Given the description of an element on the screen output the (x, y) to click on. 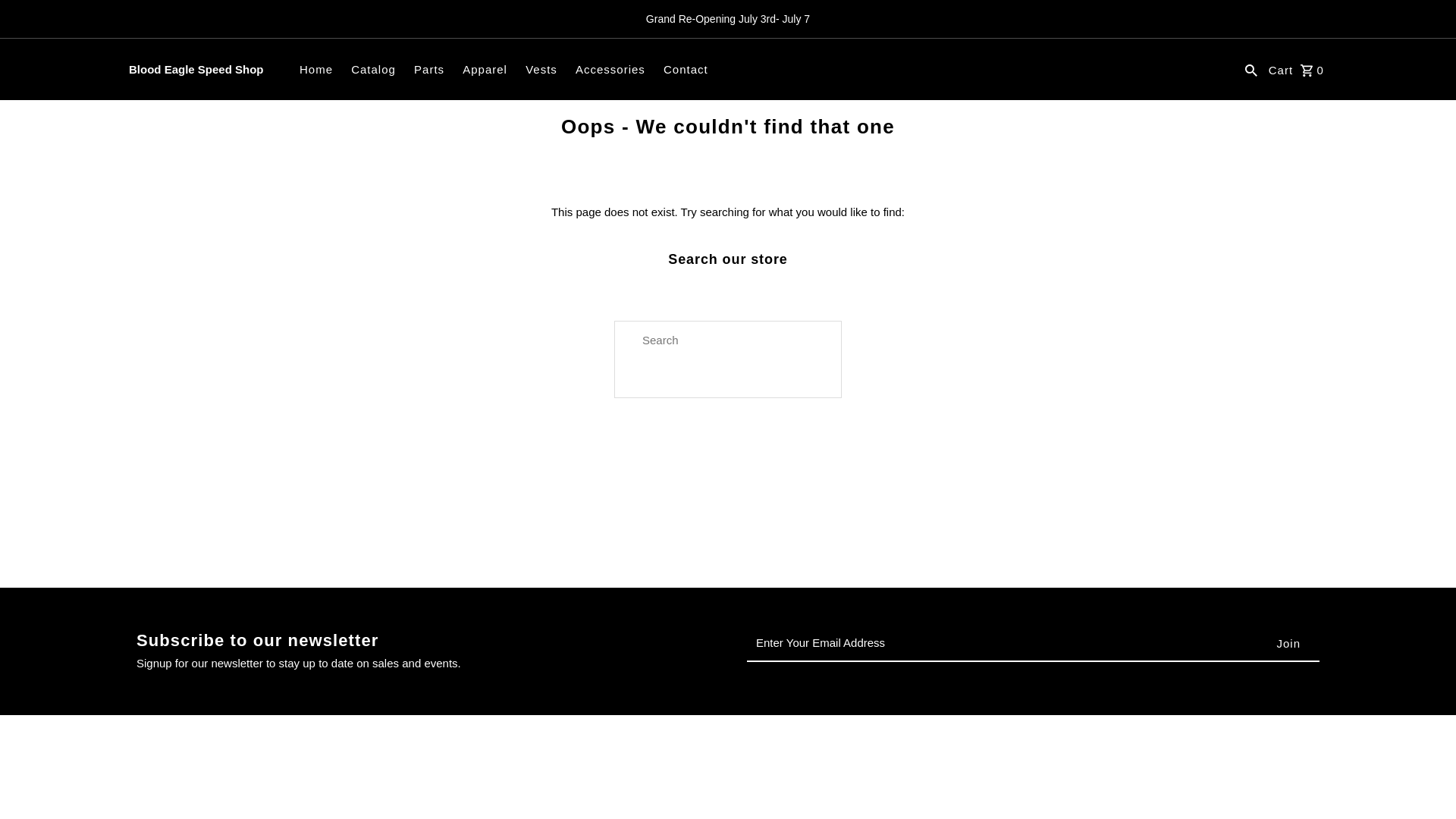
Catalog (373, 69)
Apparel (484, 69)
Parts (428, 69)
Join (1288, 643)
Skip to content (58, 18)
Vests (541, 69)
Accessories (609, 69)
Home (316, 69)
Contact (686, 69)
Join (1288, 643)
Blood Eagle Speed Shop (196, 69)
